Given the description of an element on the screen output the (x, y) to click on. 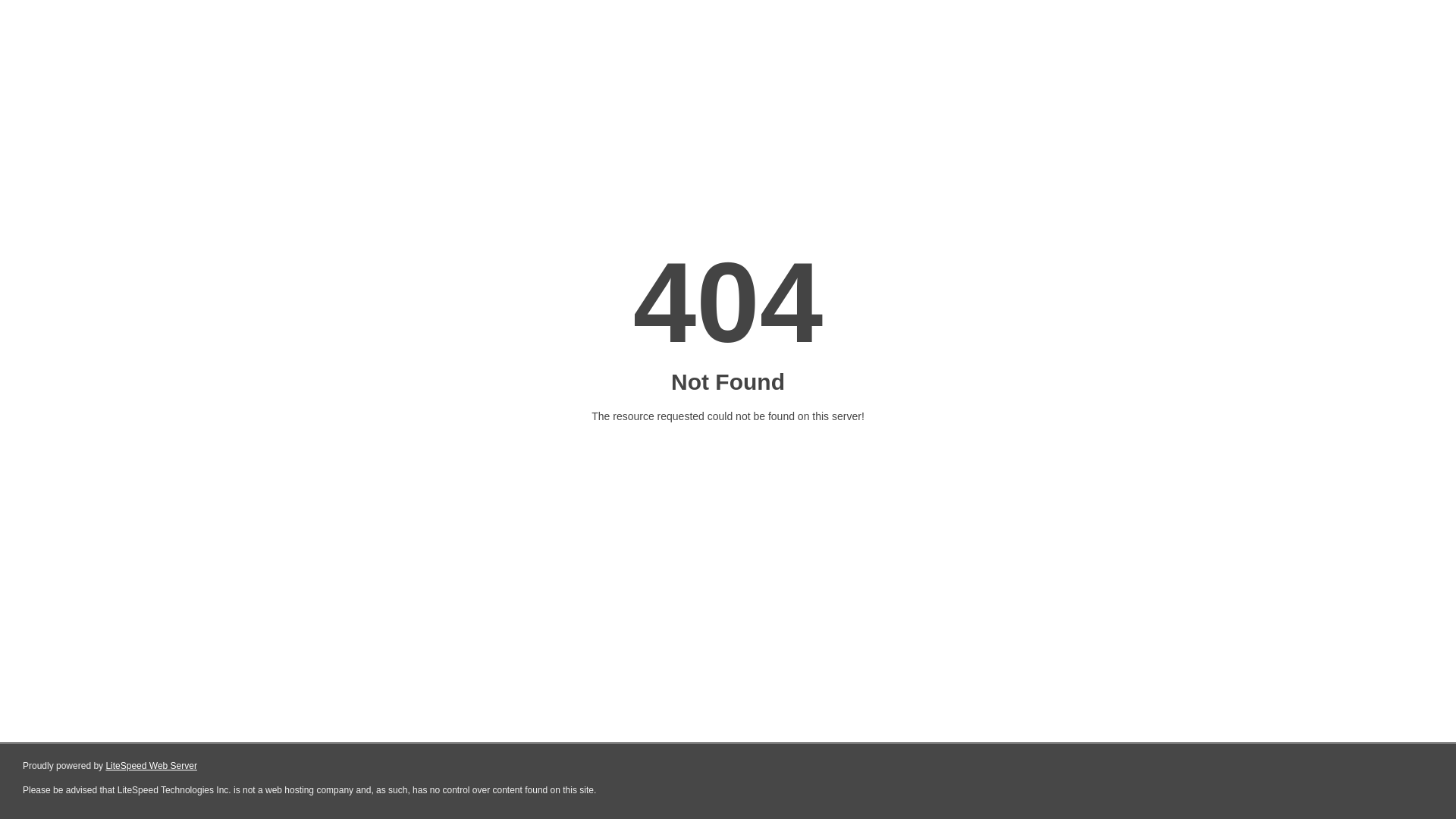
LiteSpeed Web Server Element type: text (151, 765)
